Given the description of an element on the screen output the (x, y) to click on. 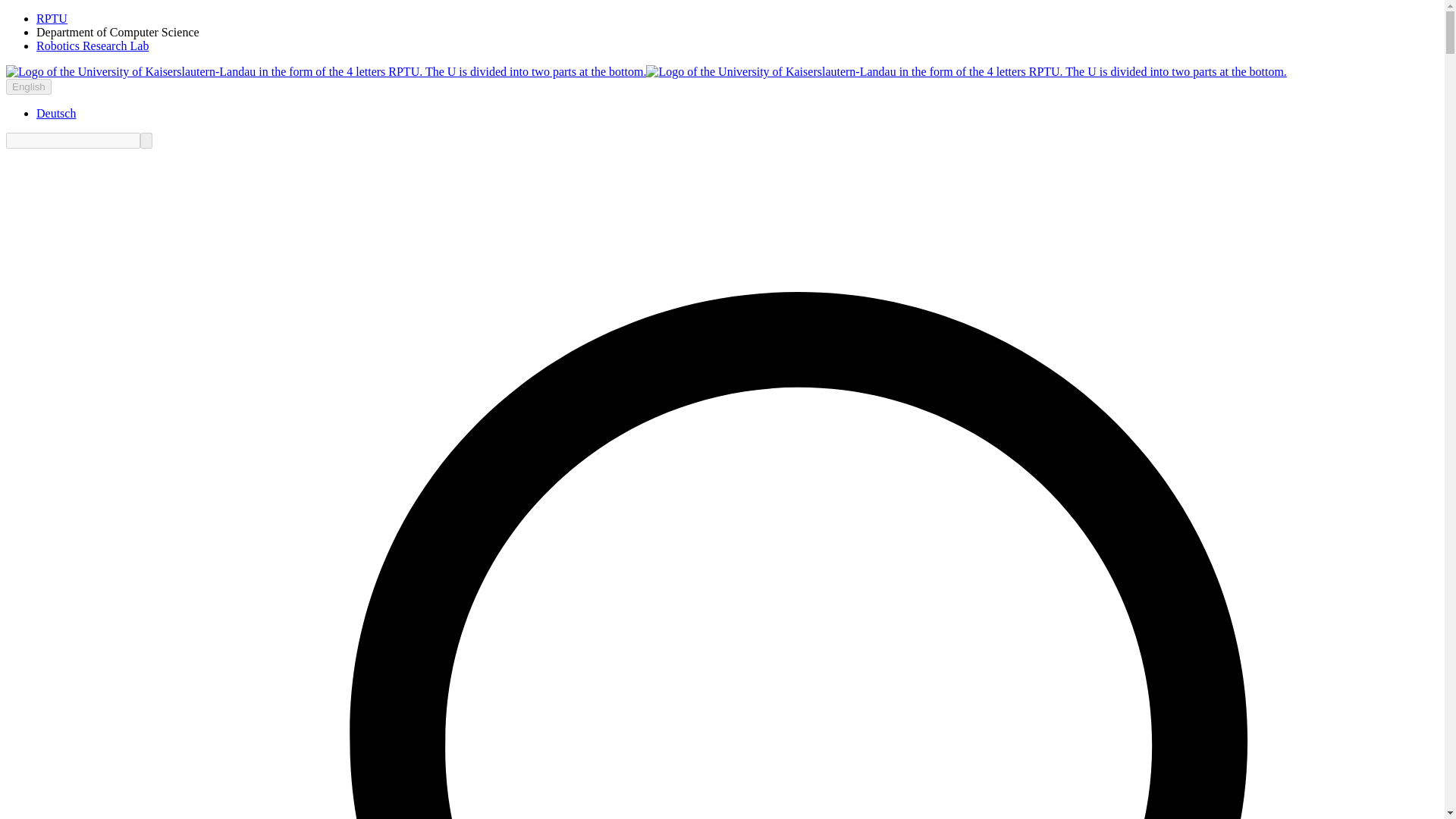
Deutsch (55, 113)
English (27, 86)
Robotics Research Lab (92, 45)
RPTU (51, 18)
Deutsch (55, 113)
